Given the description of an element on the screen output the (x, y) to click on. 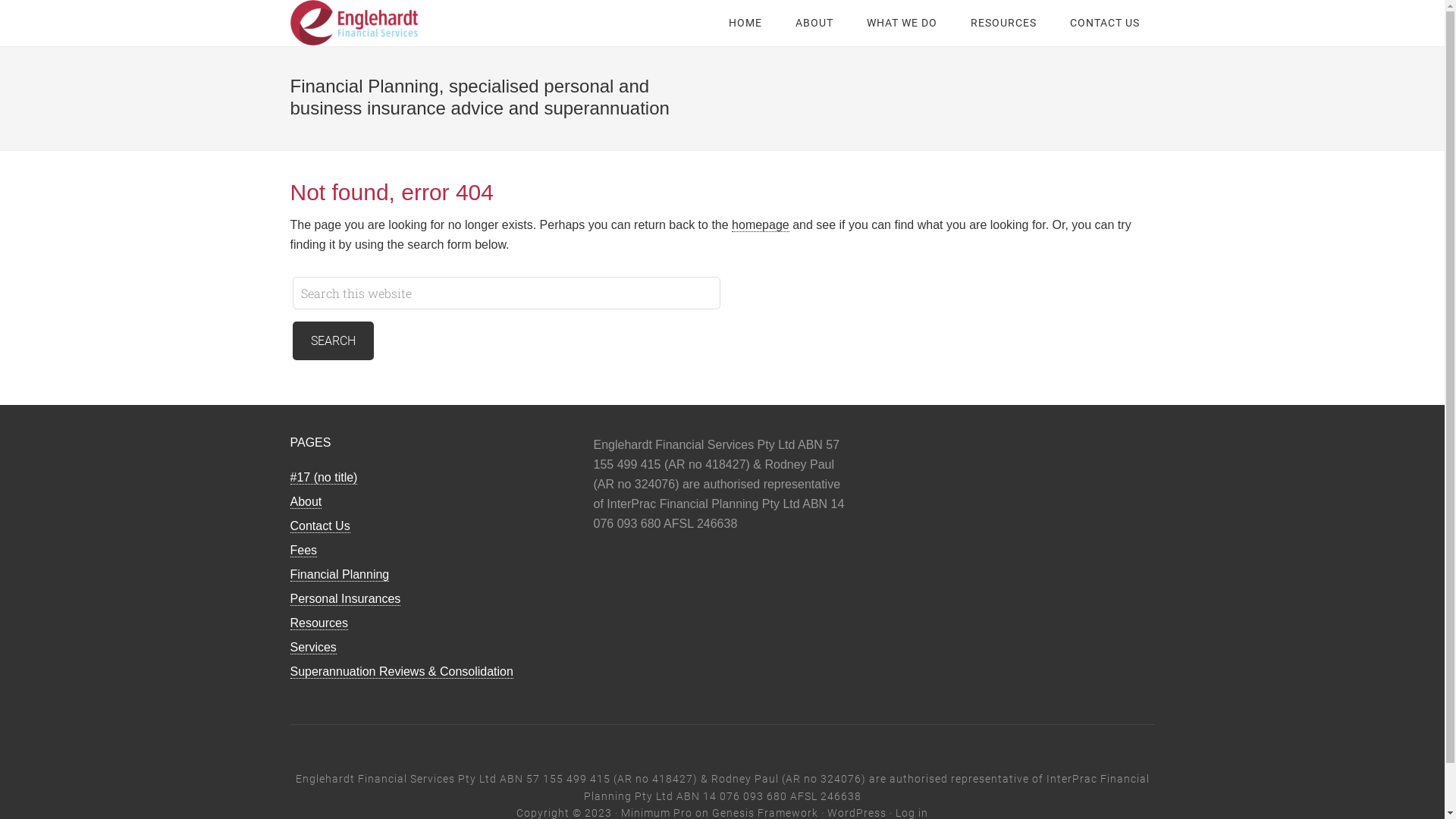
Fees Element type: text (302, 550)
Personal Insurances Element type: text (344, 598)
ENGLEHARDT FINANCIAL SERVICES Element type: text (410, 22)
Financial Planning Element type: text (339, 574)
About Element type: text (305, 501)
homepage Element type: text (760, 225)
CONTACT US Element type: text (1104, 23)
RESOURCES Element type: text (1003, 23)
#17 (no title) Element type: text (323, 477)
Search Element type: text (332, 340)
WHAT WE DO Element type: text (900, 23)
HOME Element type: text (744, 23)
ABOUT Element type: text (813, 23)
Superannuation Reviews & Consolidation Element type: text (400, 671)
Services Element type: text (312, 647)
Contact Us Element type: text (319, 526)
Resources Element type: text (318, 623)
